Given the description of an element on the screen output the (x, y) to click on. 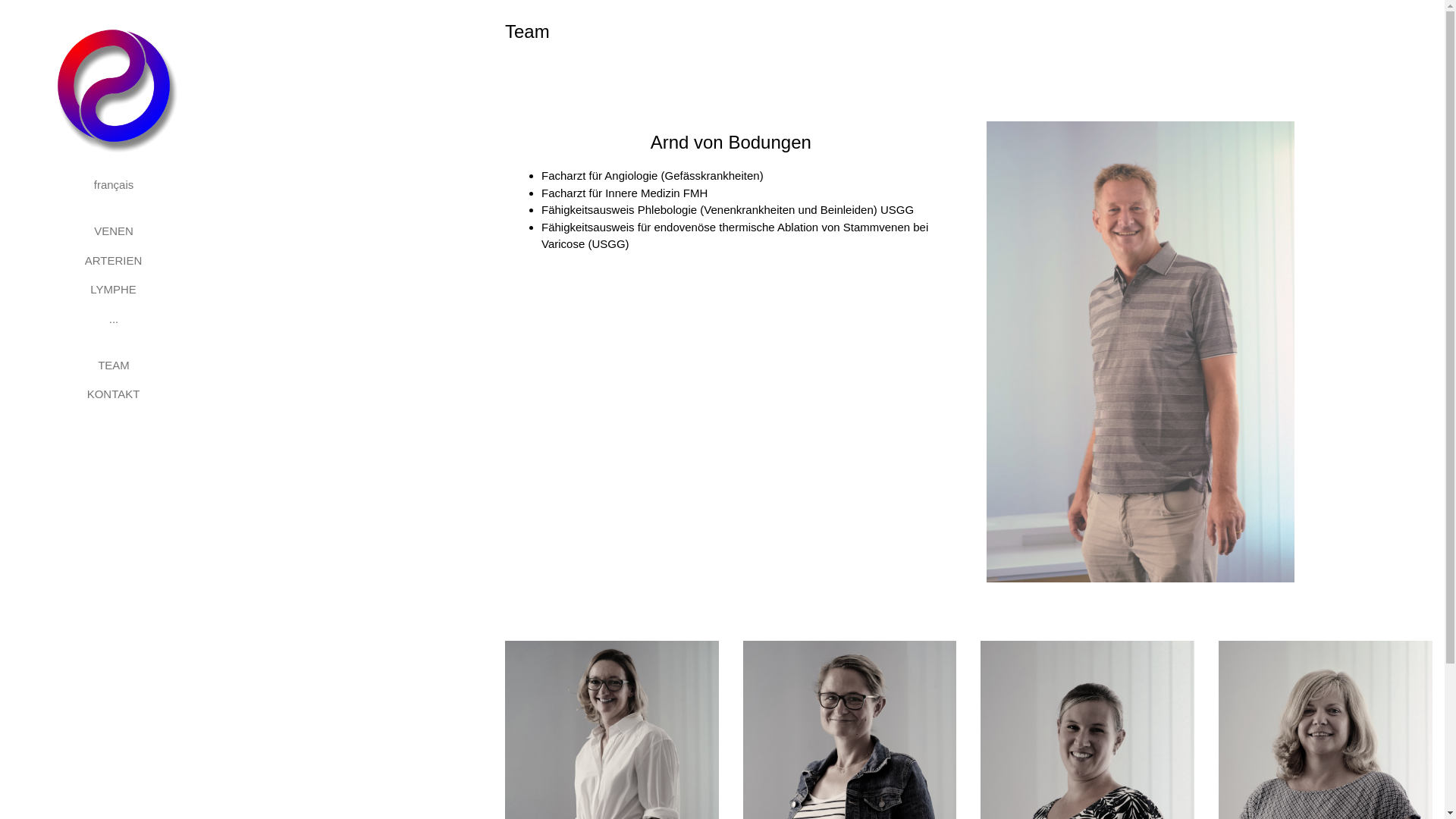
KONTAKT Element type: text (113, 394)
ARTERIEN Element type: text (113, 260)
TEAM Element type: text (113, 364)
LYMPHE Element type: text (113, 289)
VENEN Element type: text (113, 231)
... Element type: text (113, 319)
